Given the description of an element on the screen output the (x, y) to click on. 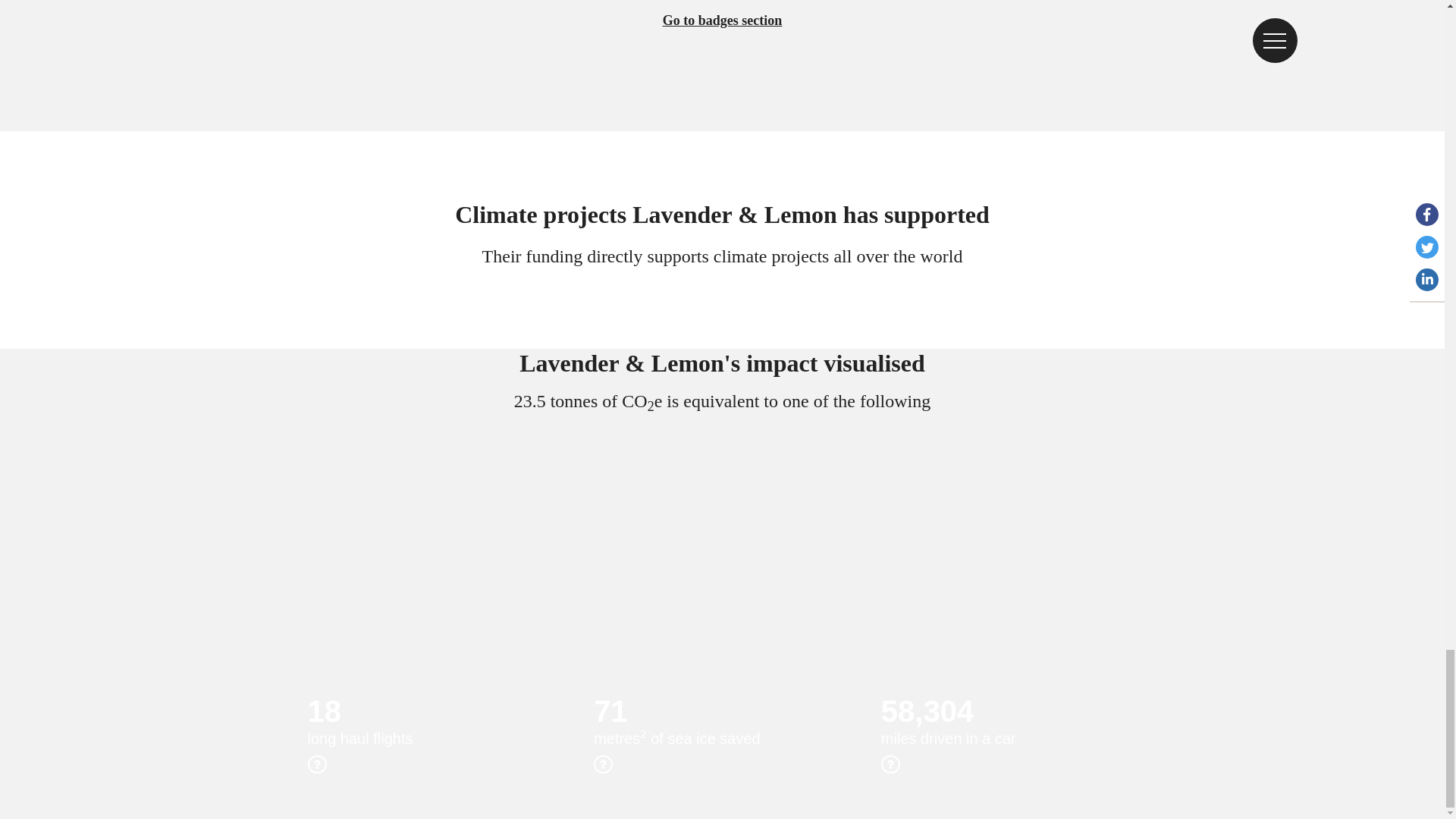
Go to badges section (722, 37)
